Given the description of an element on the screen output the (x, y) to click on. 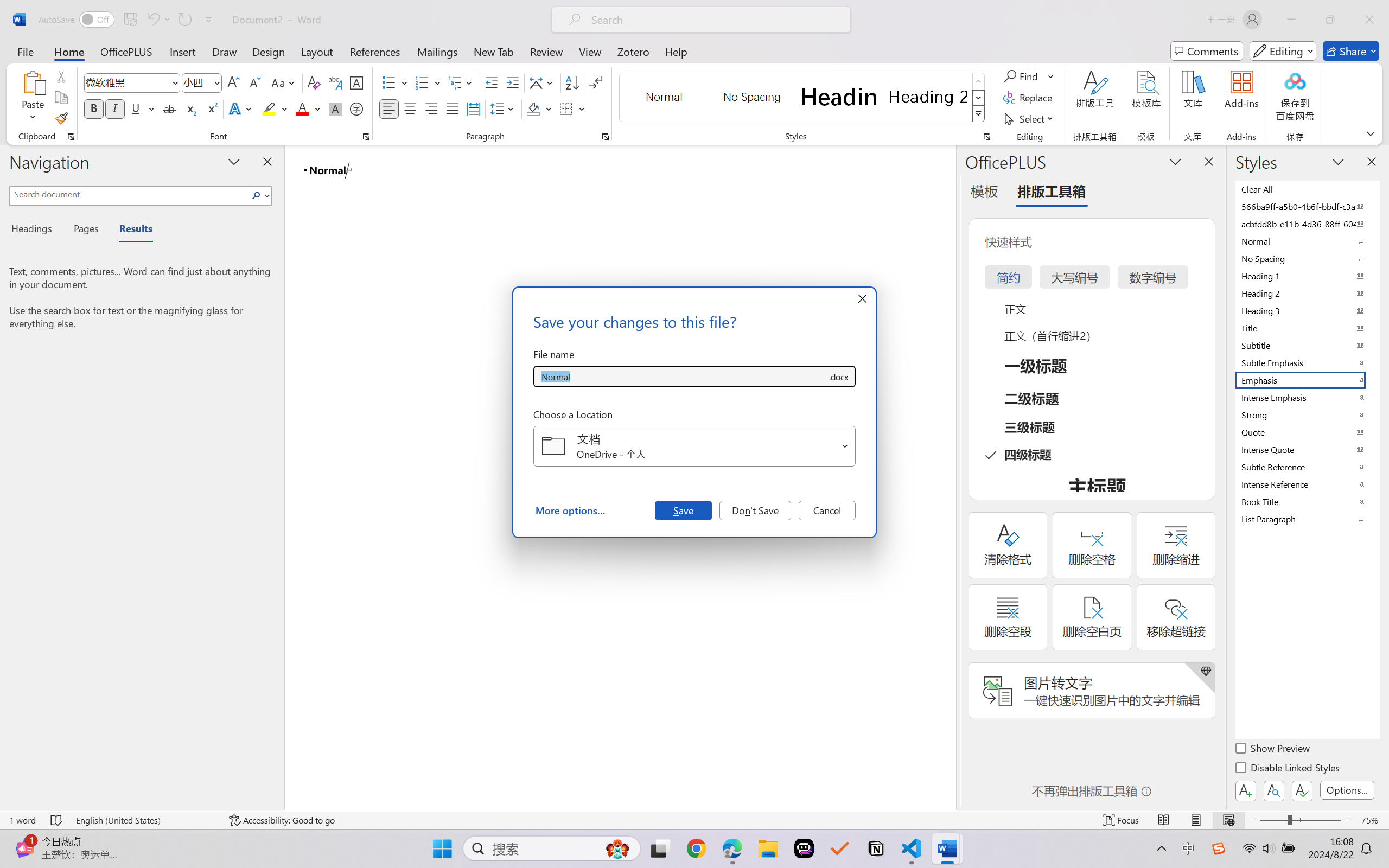
Line and Paragraph Spacing (503, 108)
Styles... (986, 136)
Accessibility Checker Accessibility: Good to go (282, 819)
Ribbon Display Options (1370, 132)
Undo Style (152, 19)
Shrink Font (253, 82)
Search (256, 195)
Draw (224, 51)
Mailings (437, 51)
AutomationID: QuickStylesGallery (802, 97)
Minimize (1291, 19)
566ba9ff-a5b0-4b6f-bbdf-c3ab41993fc2 (1306, 206)
